Given the description of an element on the screen output the (x, y) to click on. 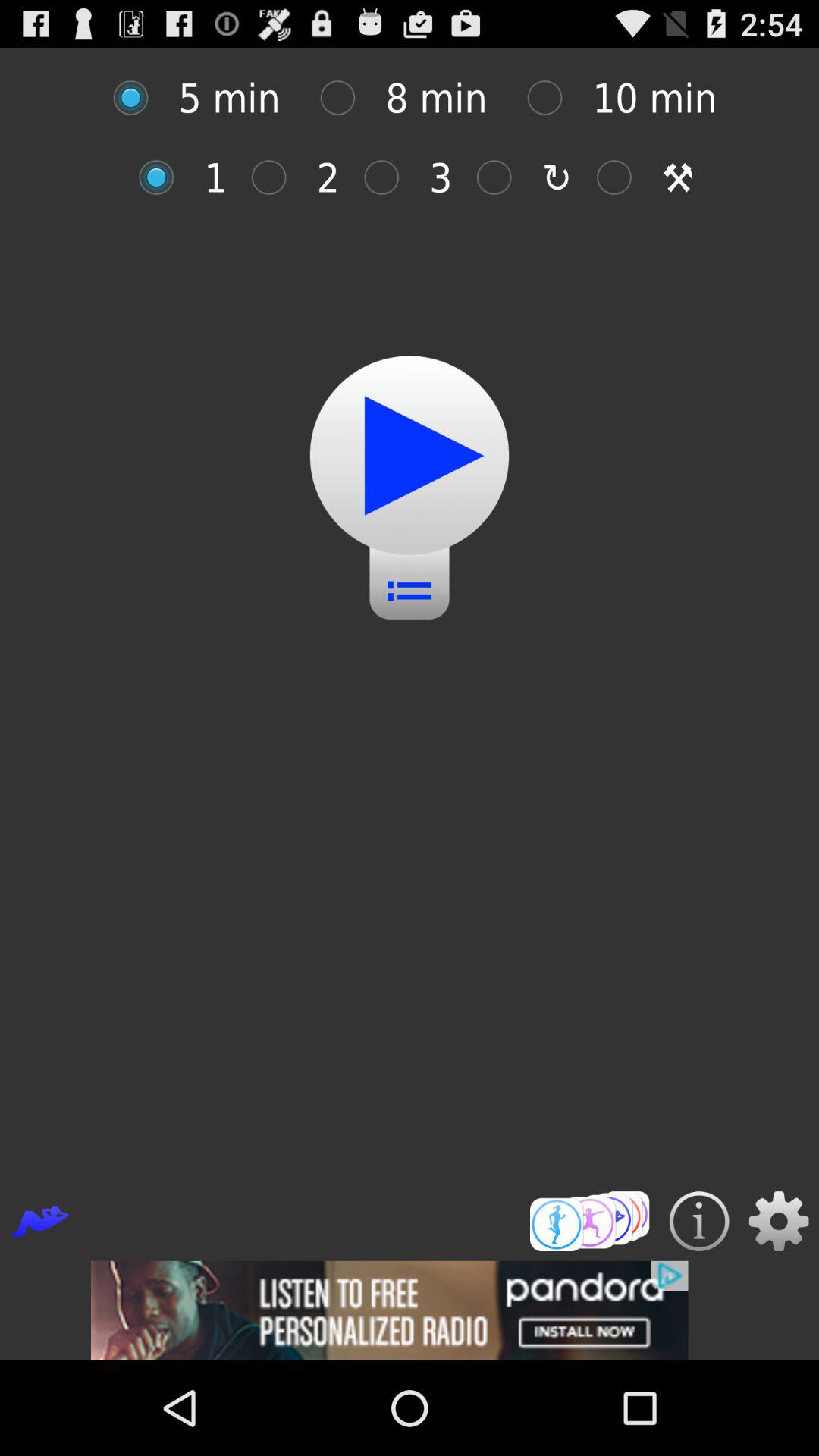
3 (389, 177)
